Given the description of an element on the screen output the (x, y) to click on. 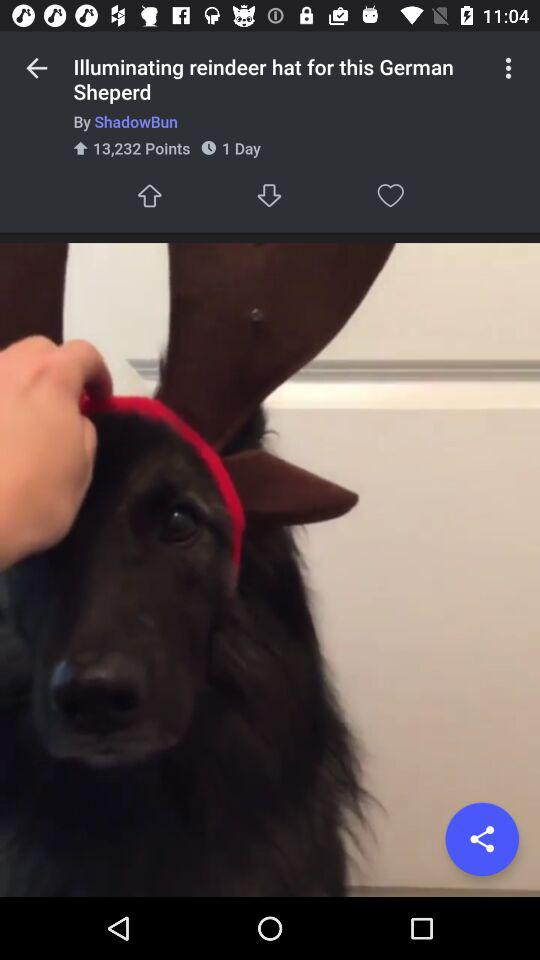
go back (36, 68)
